Given the description of an element on the screen output the (x, y) to click on. 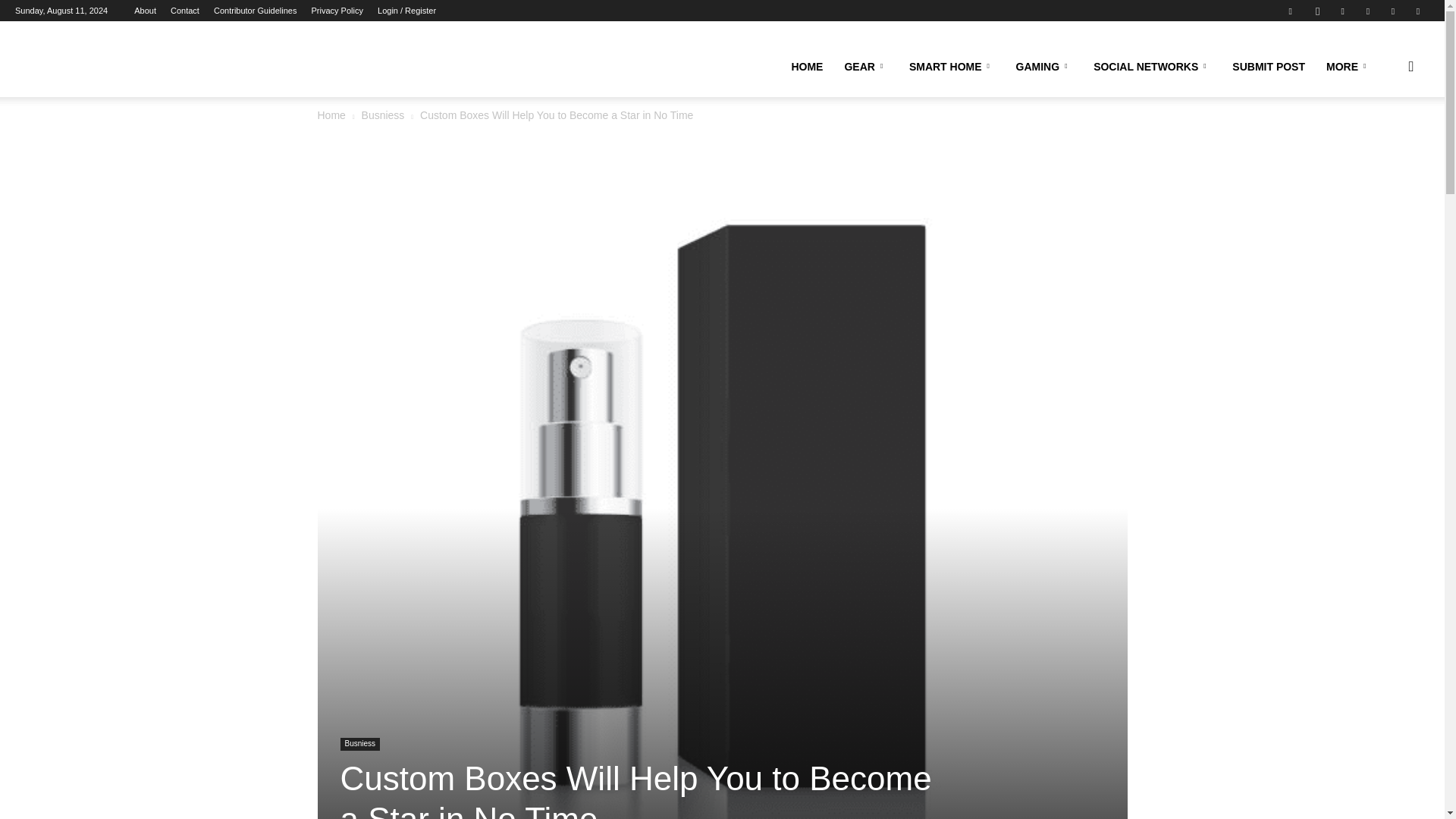
Contact (184, 10)
Facebook (1290, 10)
Instagram (1317, 10)
Twitter (1393, 10)
About (144, 10)
Privacy Policy (336, 10)
Pinterest (1367, 10)
Contributor Guidelines (255, 10)
Linkedin (1343, 10)
Youtube (1417, 10)
